Given the description of an element on the screen output the (x, y) to click on. 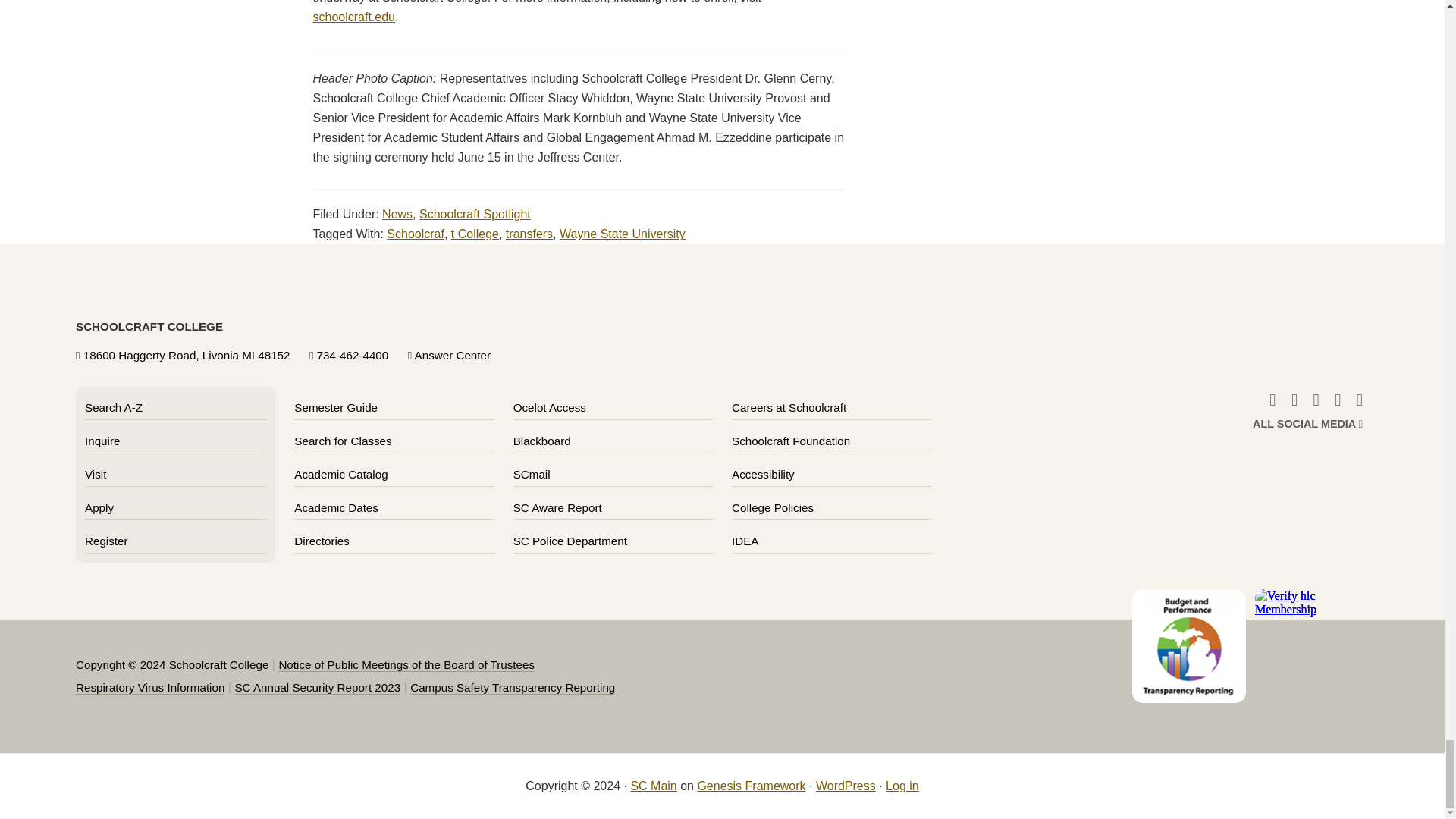
Opens a new website (791, 440)
Opens an inquiry form website (101, 440)
Opens a new website (541, 440)
Opens a new website (788, 407)
Opens an application website (98, 507)
This opens a PDF document (317, 687)
View a driving map (185, 354)
Website: Accredited Higher Learning Commission (1311, 651)
Opens a new website (549, 407)
Opens a new website (531, 473)
